Given the description of an element on the screen output the (x, y) to click on. 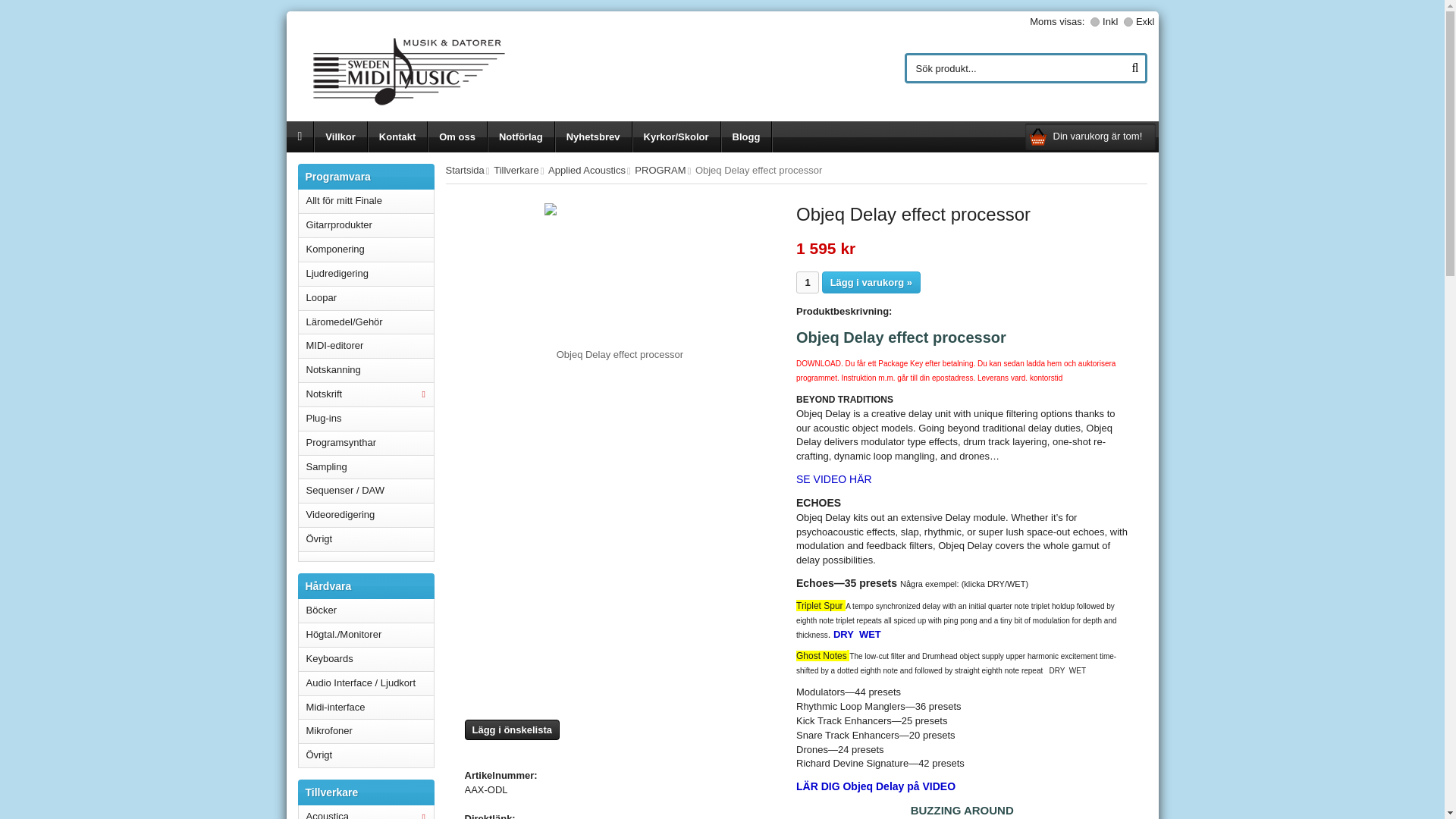
Programsynthar (365, 443)
Notskanning (365, 370)
Midi-interface (365, 708)
Plug-ins (365, 419)
Notskanning (365, 370)
Komponering (365, 250)
Om oss (457, 136)
1 (807, 282)
Videoredigering (365, 515)
Mikrofoner (365, 731)
